Given the description of an element on the screen output the (x, y) to click on. 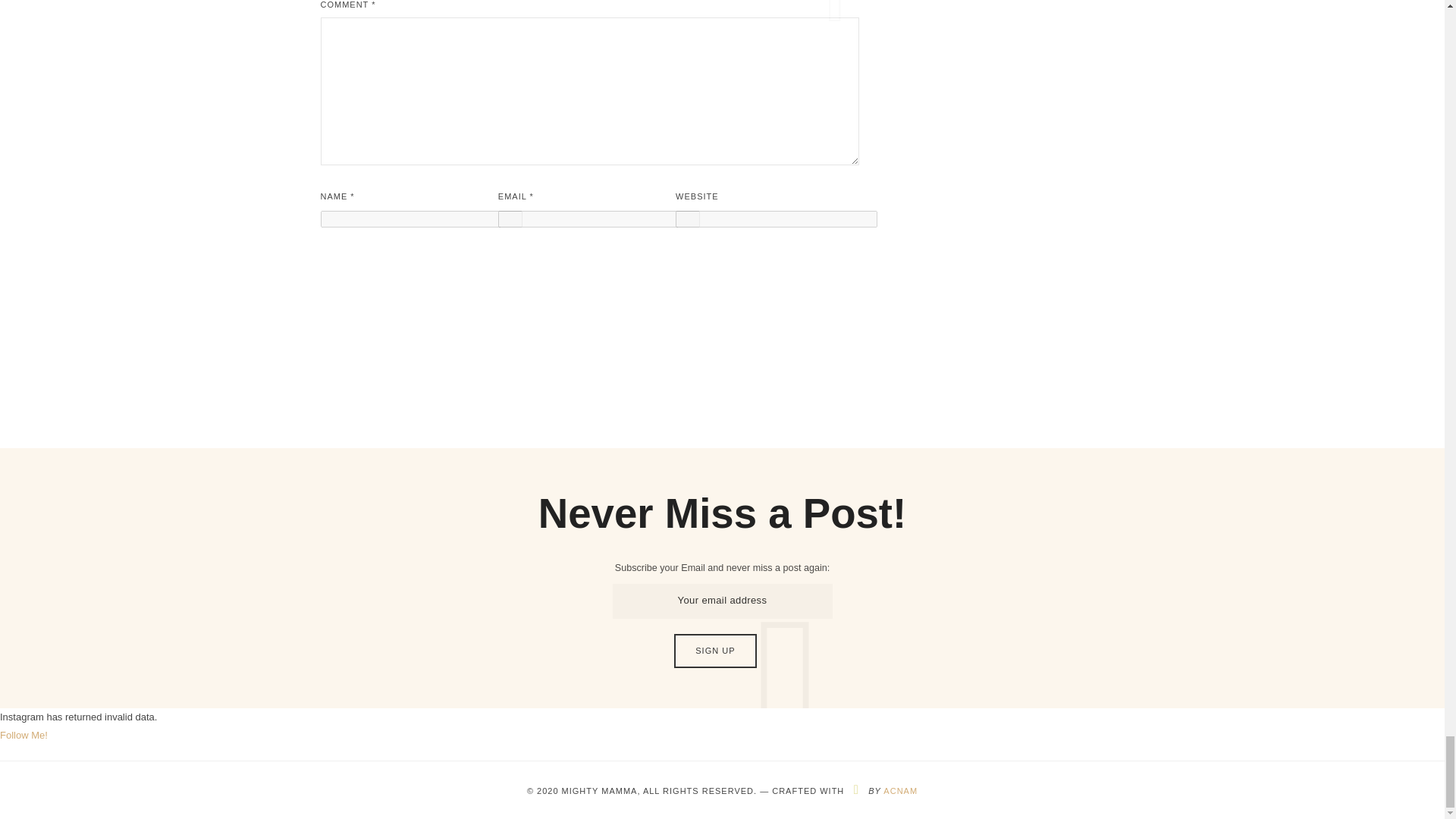
Sign up (714, 650)
